Given the description of an element on the screen output the (x, y) to click on. 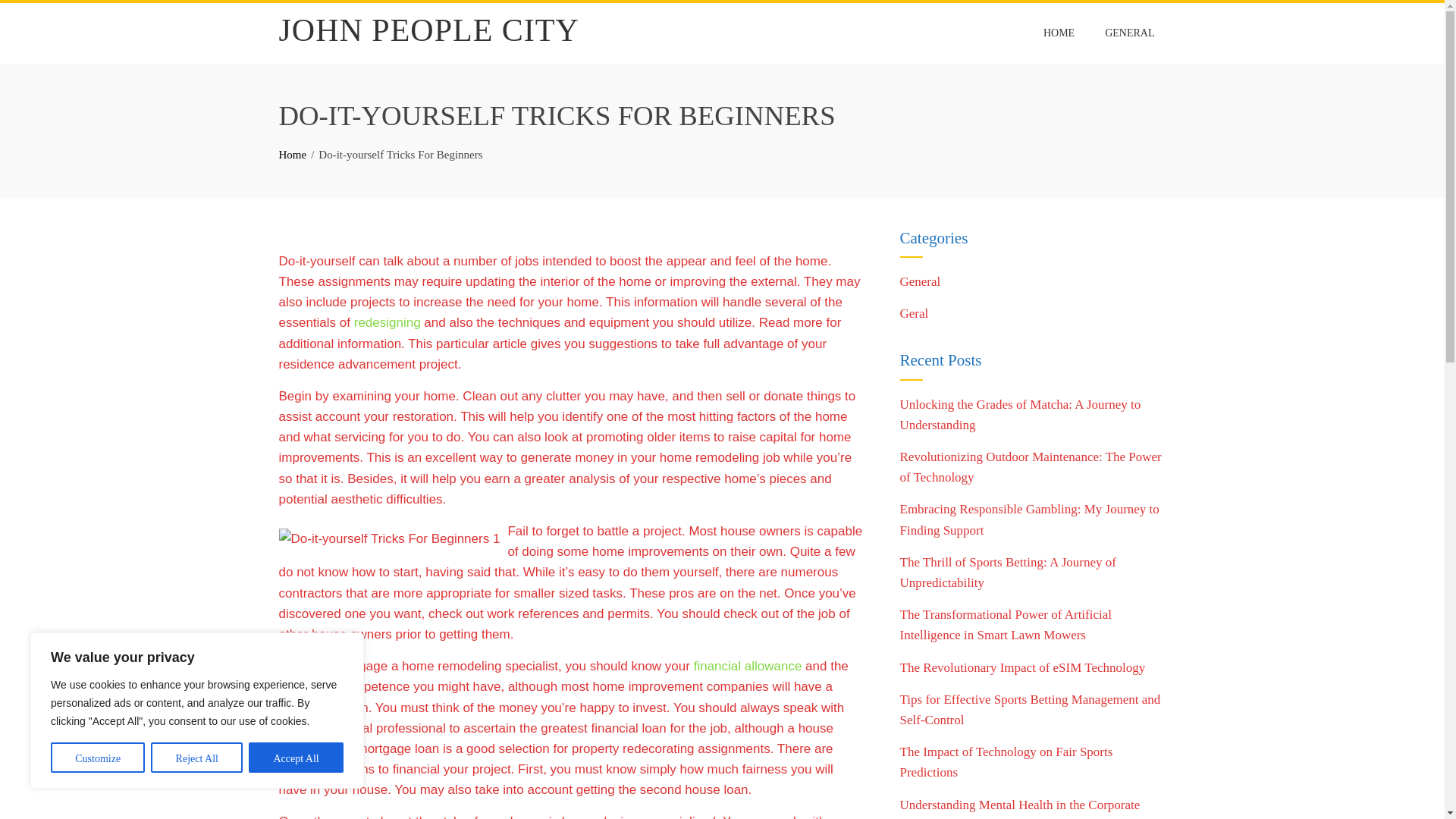
Home (293, 154)
GENERAL (1129, 32)
The Revolutionary Impact of eSIM Technology (1021, 667)
HOME (1059, 32)
Unlocking the Grades of Matcha: A Journey to Understanding (1019, 414)
Accept All (295, 757)
The Thrill of Sports Betting: A Journey of Unpredictability (1007, 572)
redesigning (386, 322)
Geral (913, 313)
JOHN PEOPLE CITY (429, 30)
Understanding Mental Health in the Corporate World (1019, 808)
financial allowance (748, 666)
Revolutionizing Outdoor Maintenance: The Power of Technology (1029, 466)
General (919, 281)
Reject All (197, 757)
